Given the description of an element on the screen output the (x, y) to click on. 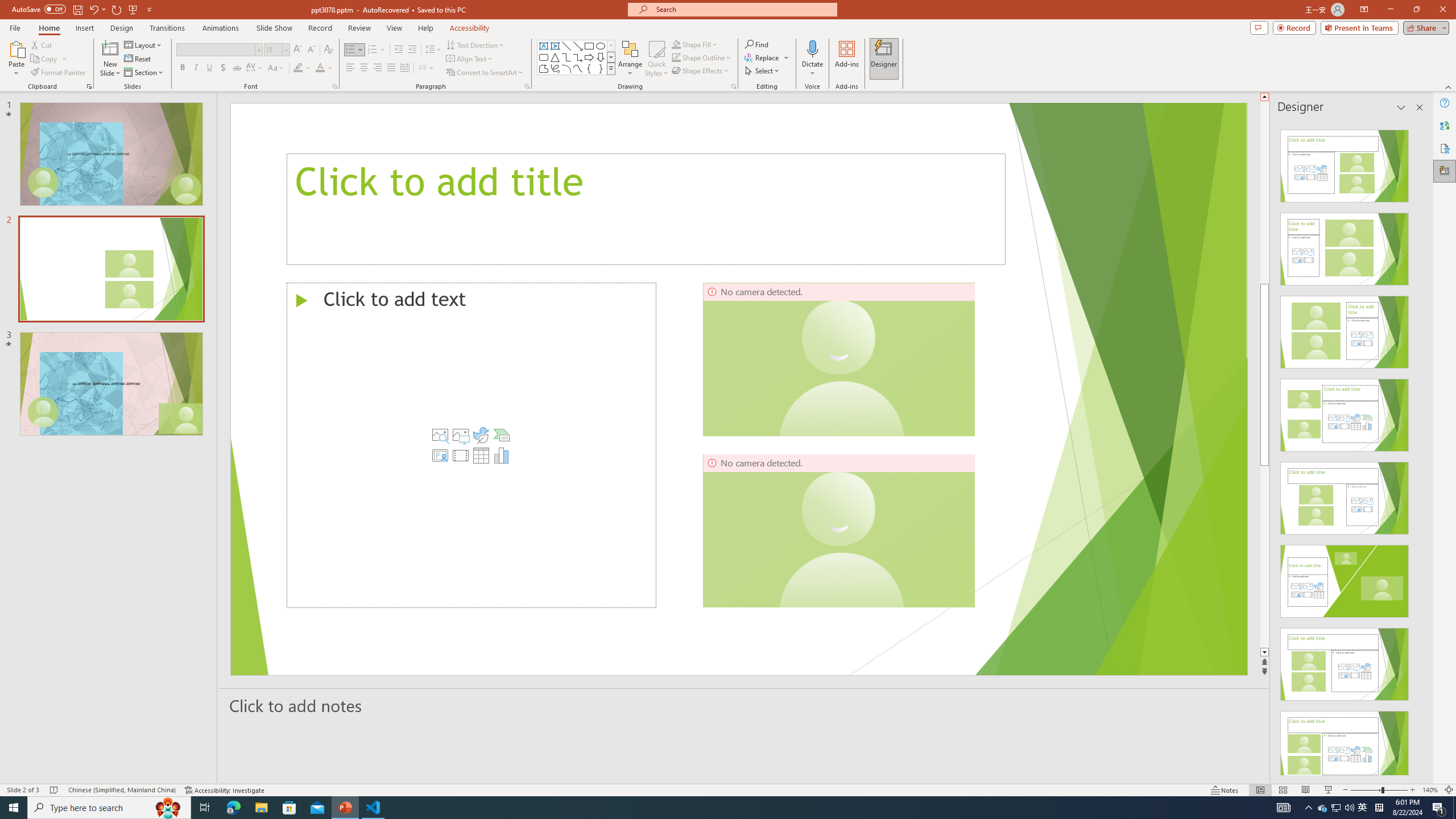
Font Color Red (320, 67)
Shape Fill (694, 44)
Align Left (349, 67)
Recommended Design: Design Idea (1344, 162)
Line (566, 45)
Font Color (324, 67)
Character Spacing (254, 67)
Distributed (404, 67)
Columns (426, 67)
